Given the description of an element on the screen output the (x, y) to click on. 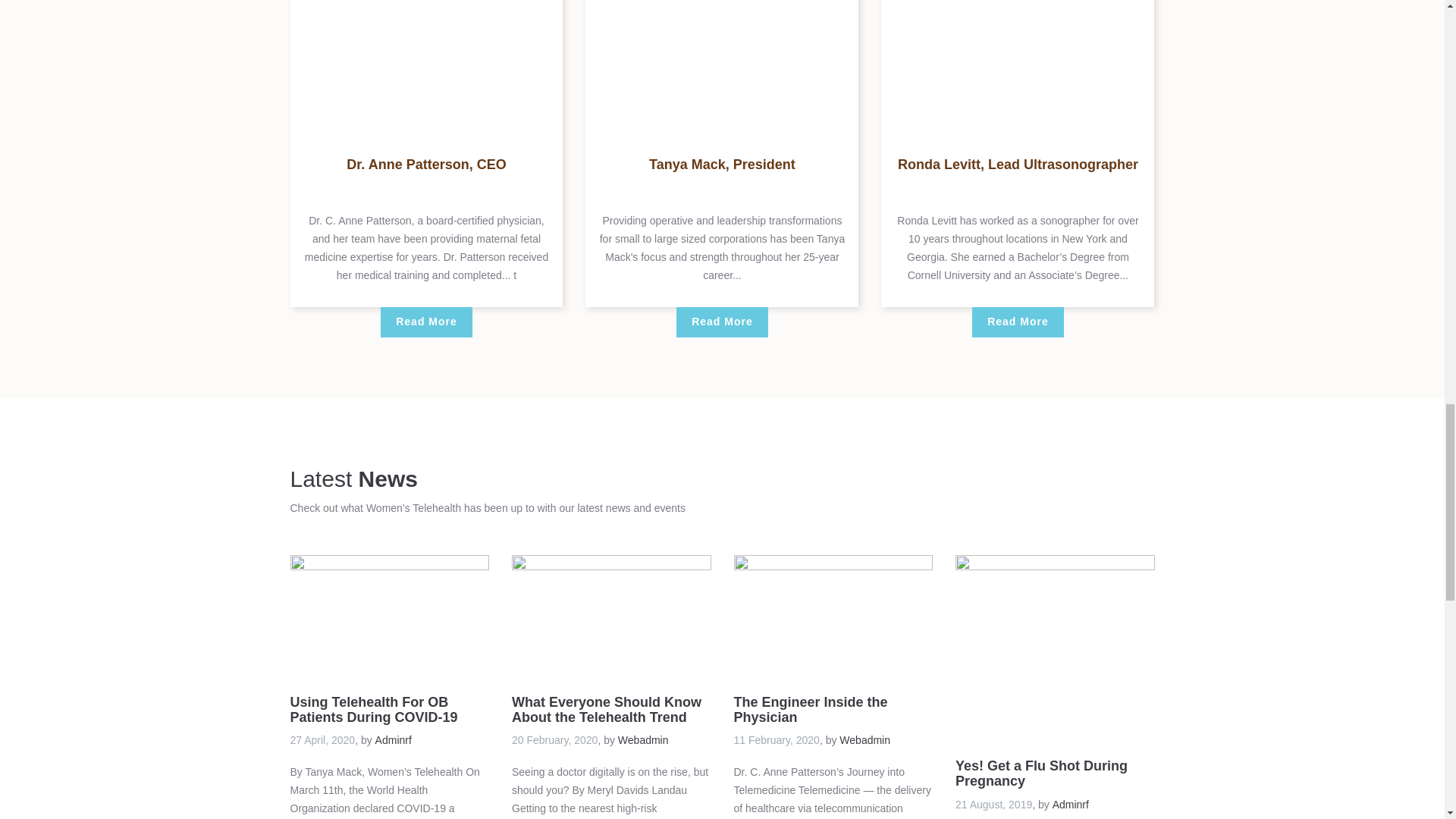
Tanya Mack, President (722, 39)
View all posts by Adminrf (1070, 804)
View all posts by Adminrf (393, 739)
View all posts by webadmin (864, 739)
View all posts by webadmin (642, 739)
Yes! Get a Flu Shot During Pregnancy (1054, 645)
Dr. Anne Patterson, CEO (425, 164)
Read More (425, 322)
Dr. Anne Patterson, CEO (425, 39)
What Everyone Should Know About the Telehealth Trend (611, 613)
The Engineer Inside the Physician (833, 613)
Ronda Levitt, Lead Ultrasonographer (1017, 39)
Using Telehealth For OB Patients During COVID-19 (389, 613)
